Given the description of an element on the screen output the (x, y) to click on. 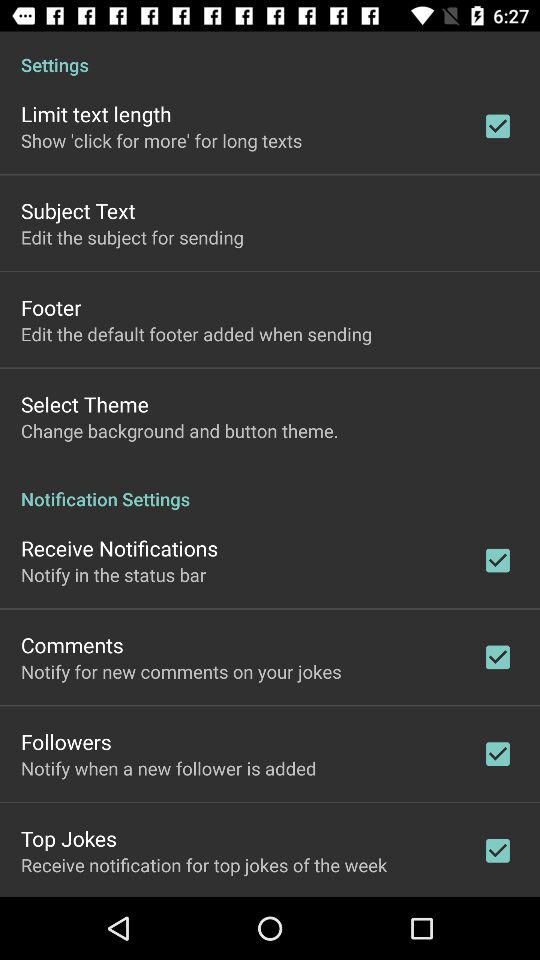
tap the item above edit the subject (78, 210)
